Given the description of an element on the screen output the (x, y) to click on. 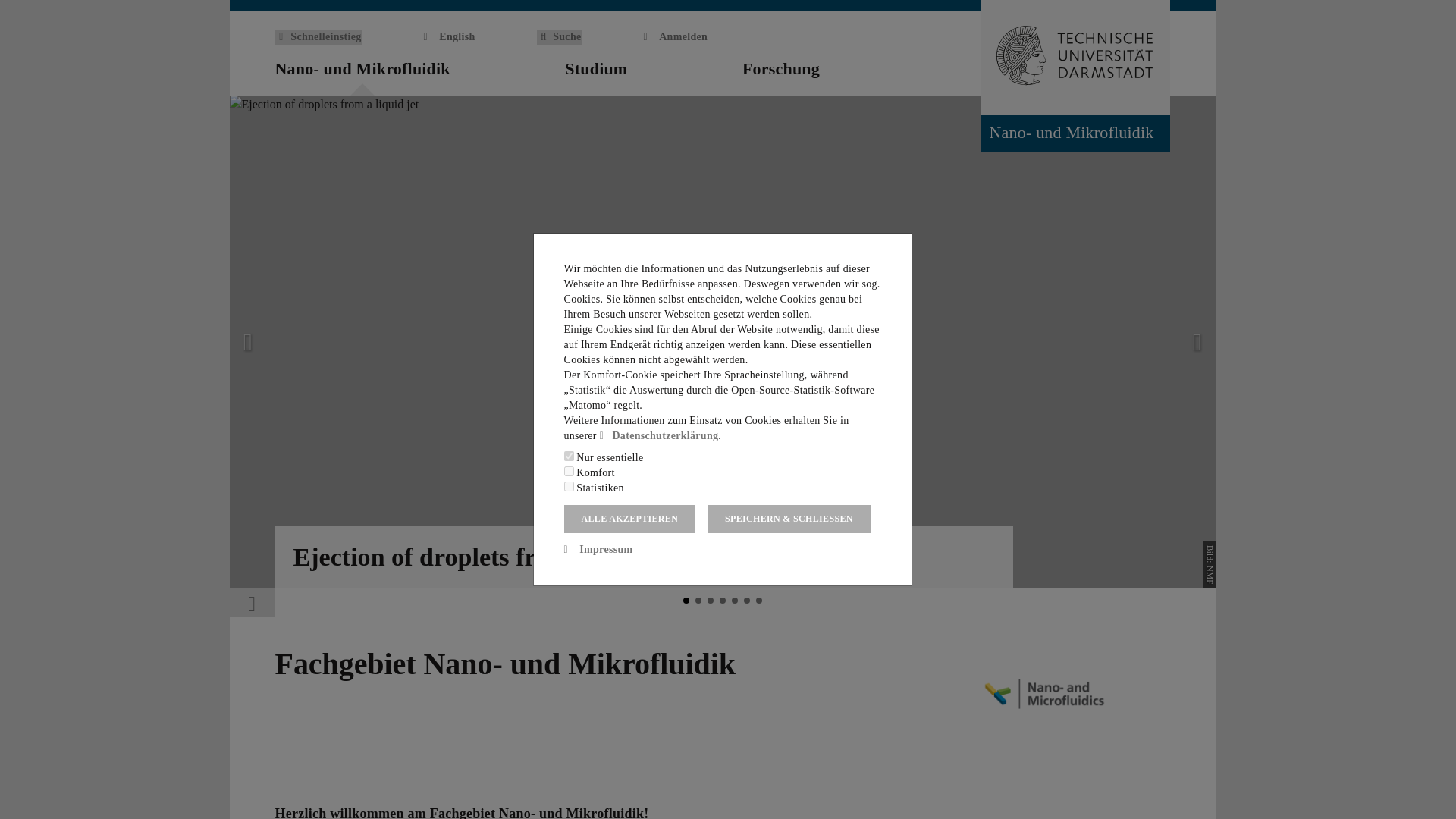
statistics (568, 486)
usability (568, 470)
essential (568, 456)
Zur Startseite der TU Darmstadt (1074, 57)
Zur Startseite der Institution (1160, 69)
